Given the description of an element on the screen output the (x, y) to click on. 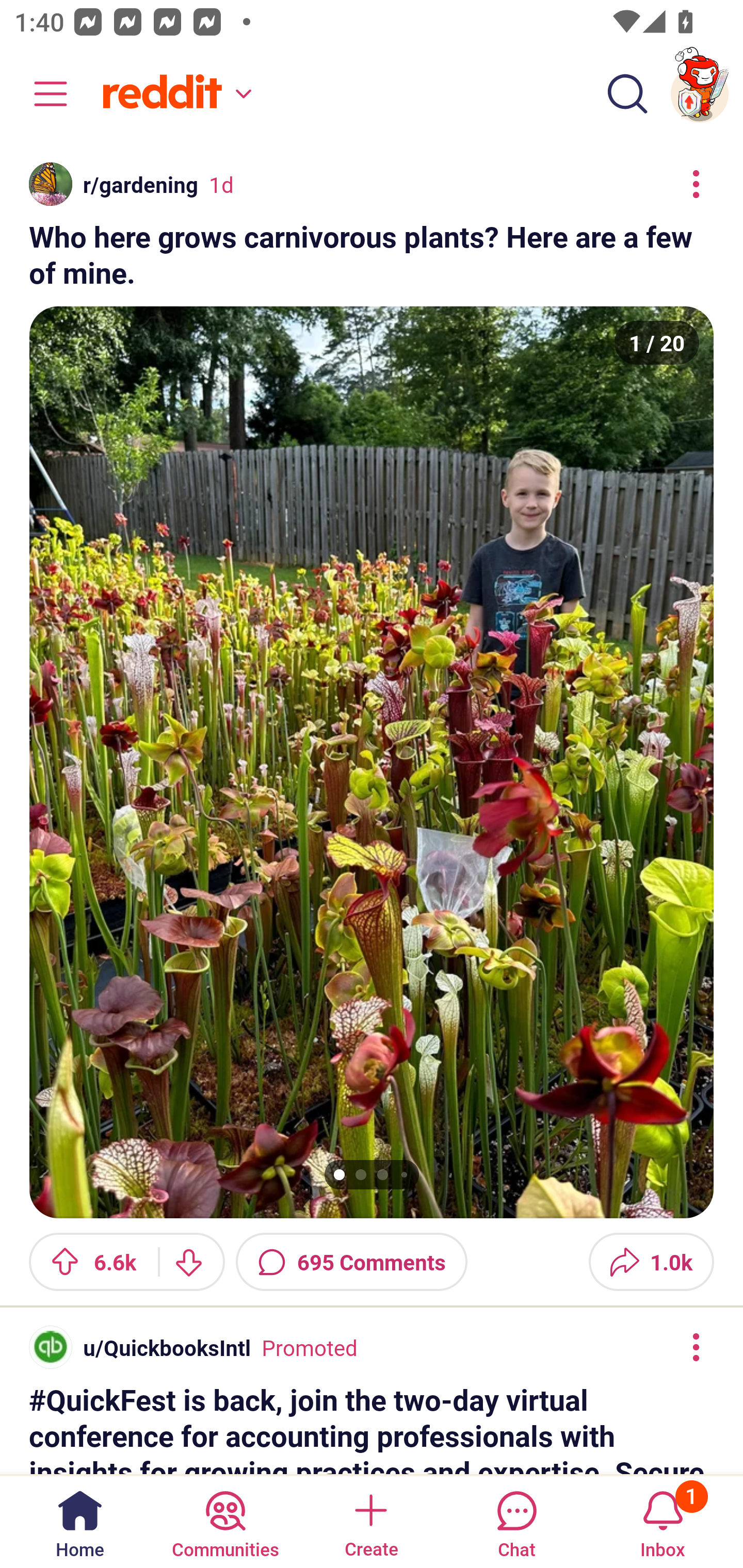
Search (626, 93)
TestAppium002 account (699, 93)
Community menu (41, 94)
Home feed (173, 94)
Home (80, 1520)
Communities (225, 1520)
Create a post Create (370, 1520)
Chat (516, 1520)
Inbox, has 1 notification 1 Inbox (662, 1520)
